Given the description of an element on the screen output the (x, y) to click on. 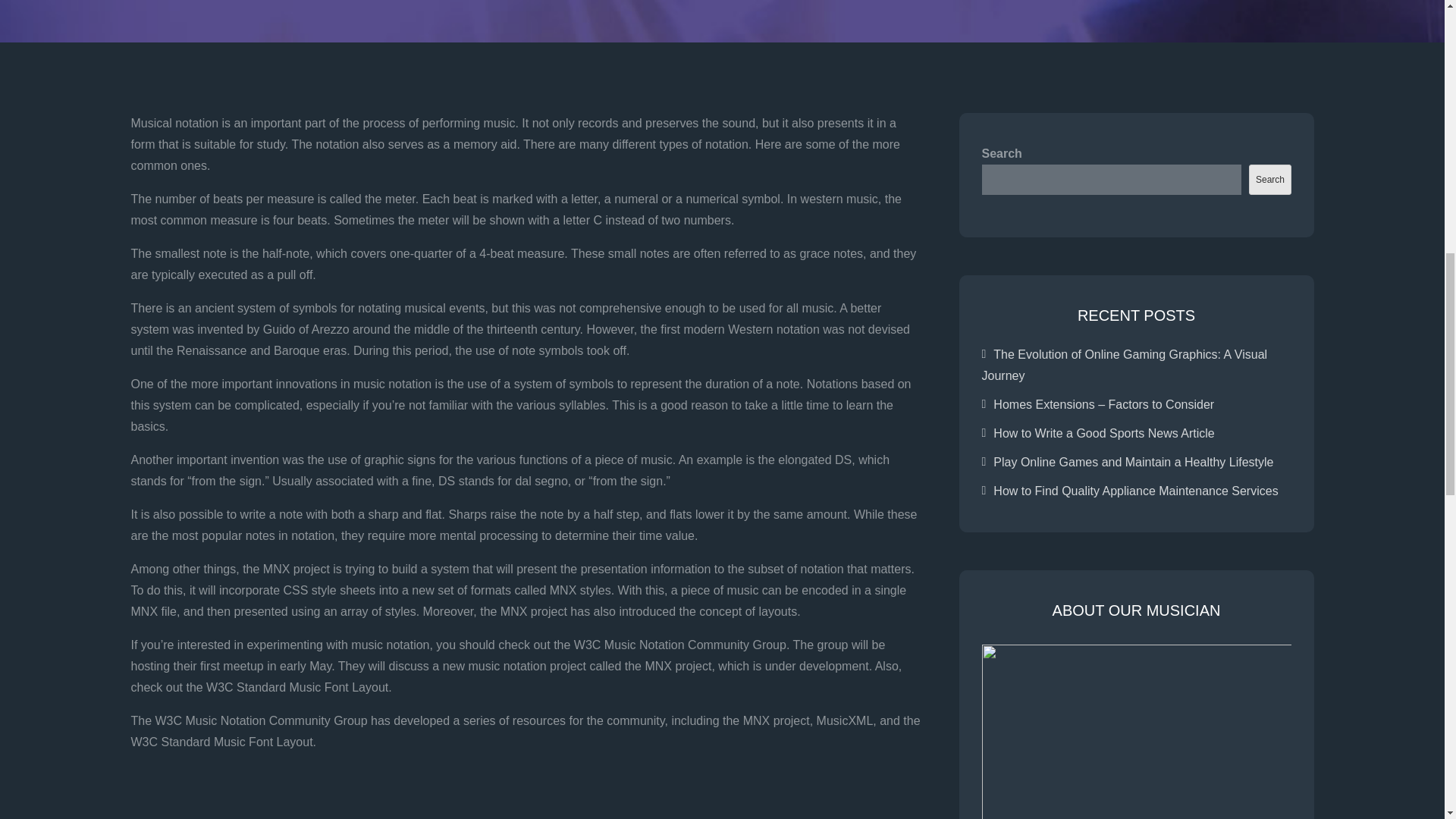
The Evolution of Online Gaming Graphics: A Visual Journey (1123, 365)
How to Write a Good Sports News Article (1103, 432)
How to Find Quality Appliance Maintenance Services (1135, 490)
Search (1269, 179)
Play Online Games and Maintain a Healthy Lifestyle (1132, 461)
